Given the description of an element on the screen output the (x, y) to click on. 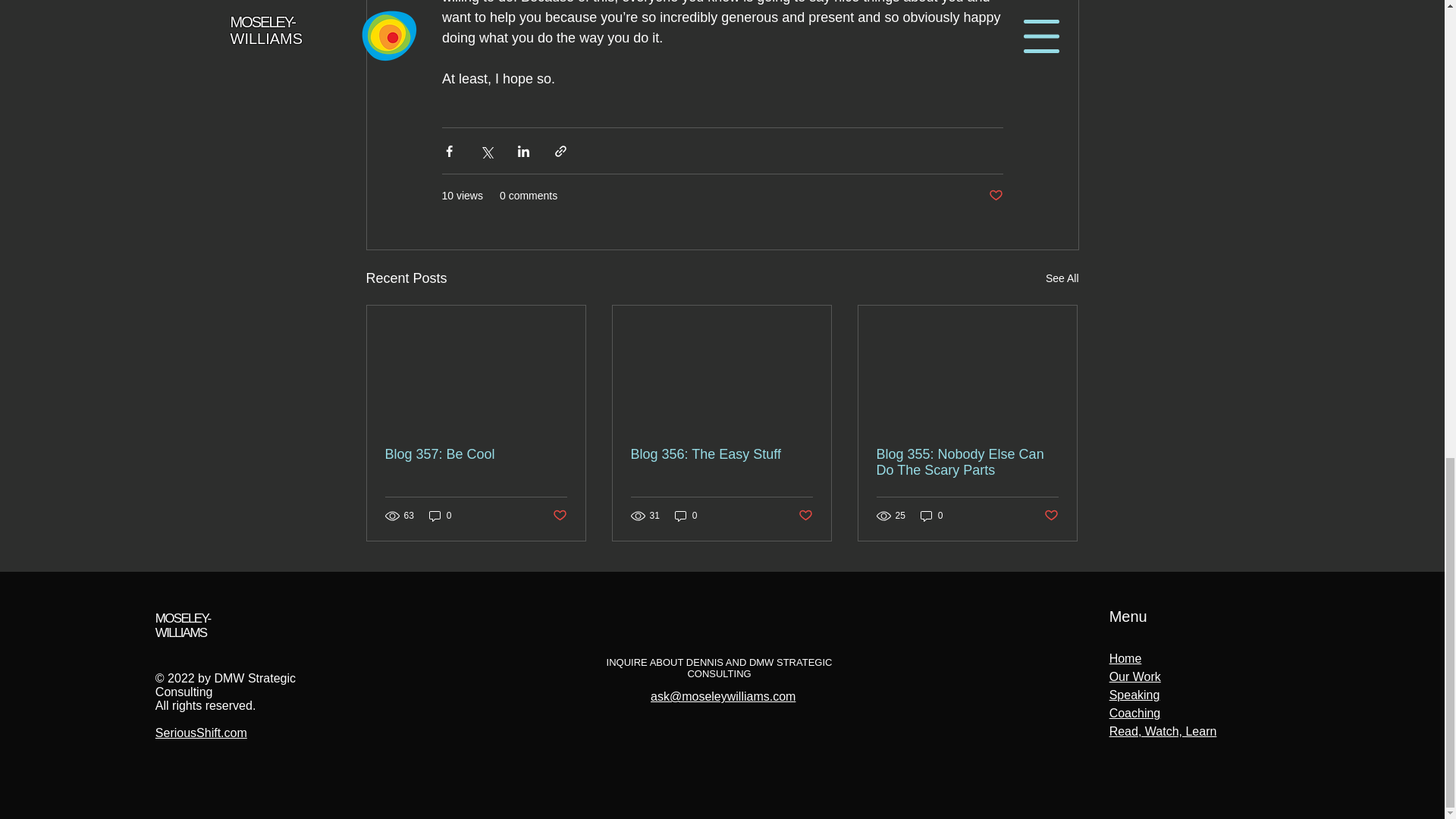
Post not marked as liked (804, 515)
0 (931, 515)
Blog 357: Be Cool (476, 454)
Home (1125, 658)
Coaching (1134, 712)
Post not marked as liked (1050, 515)
Blog 355: Nobody Else Can Do The Scary Parts (967, 462)
0 (685, 515)
Post not marked as liked (558, 515)
Our Work (1134, 676)
Blog 356: The Easy Stuff (721, 454)
Speaking (1134, 694)
See All (183, 624)
Post not marked as liked (1061, 278)
